Given the description of an element on the screen output the (x, y) to click on. 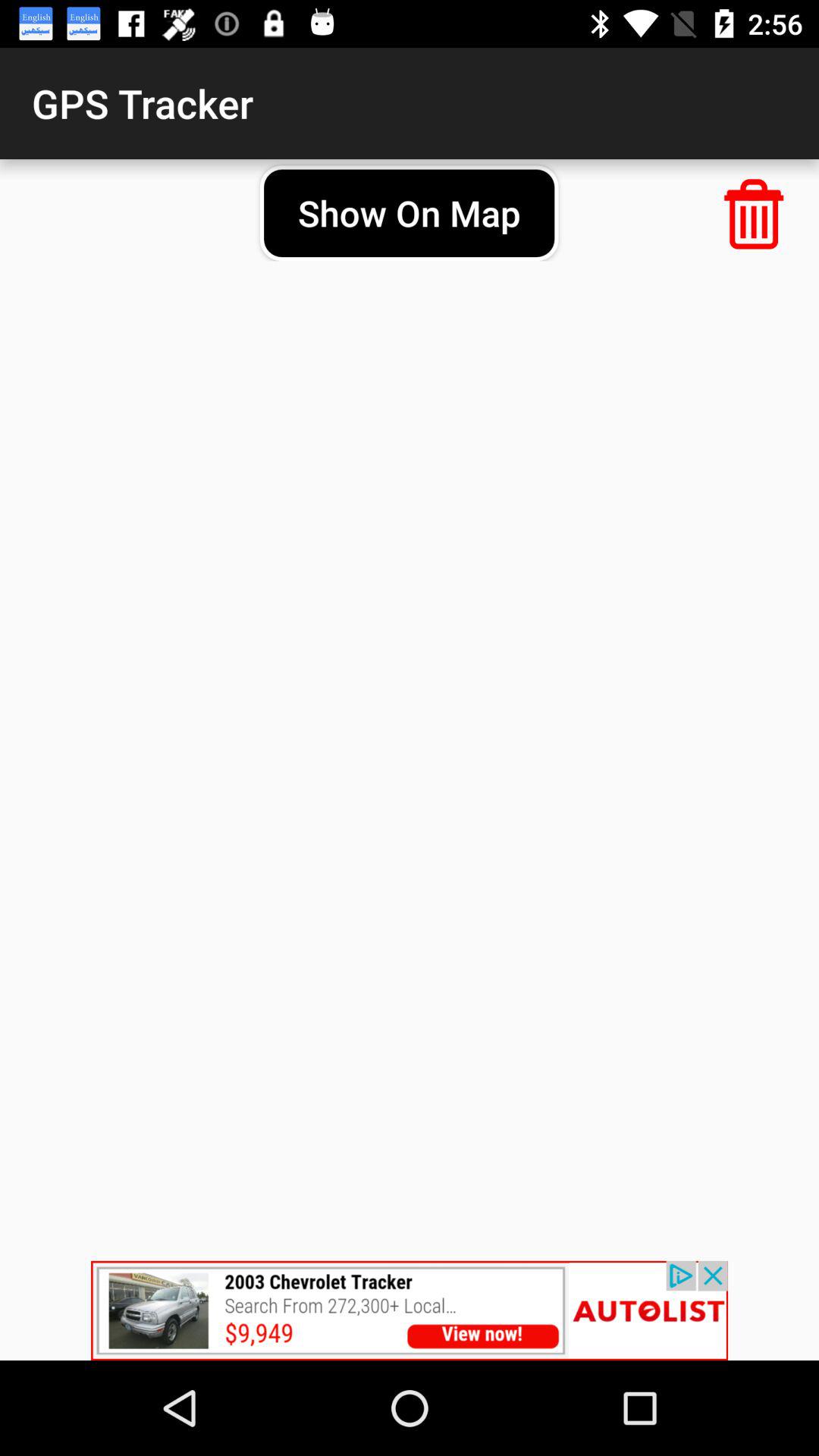
advertisement (409, 1310)
